Given the description of an element on the screen output the (x, y) to click on. 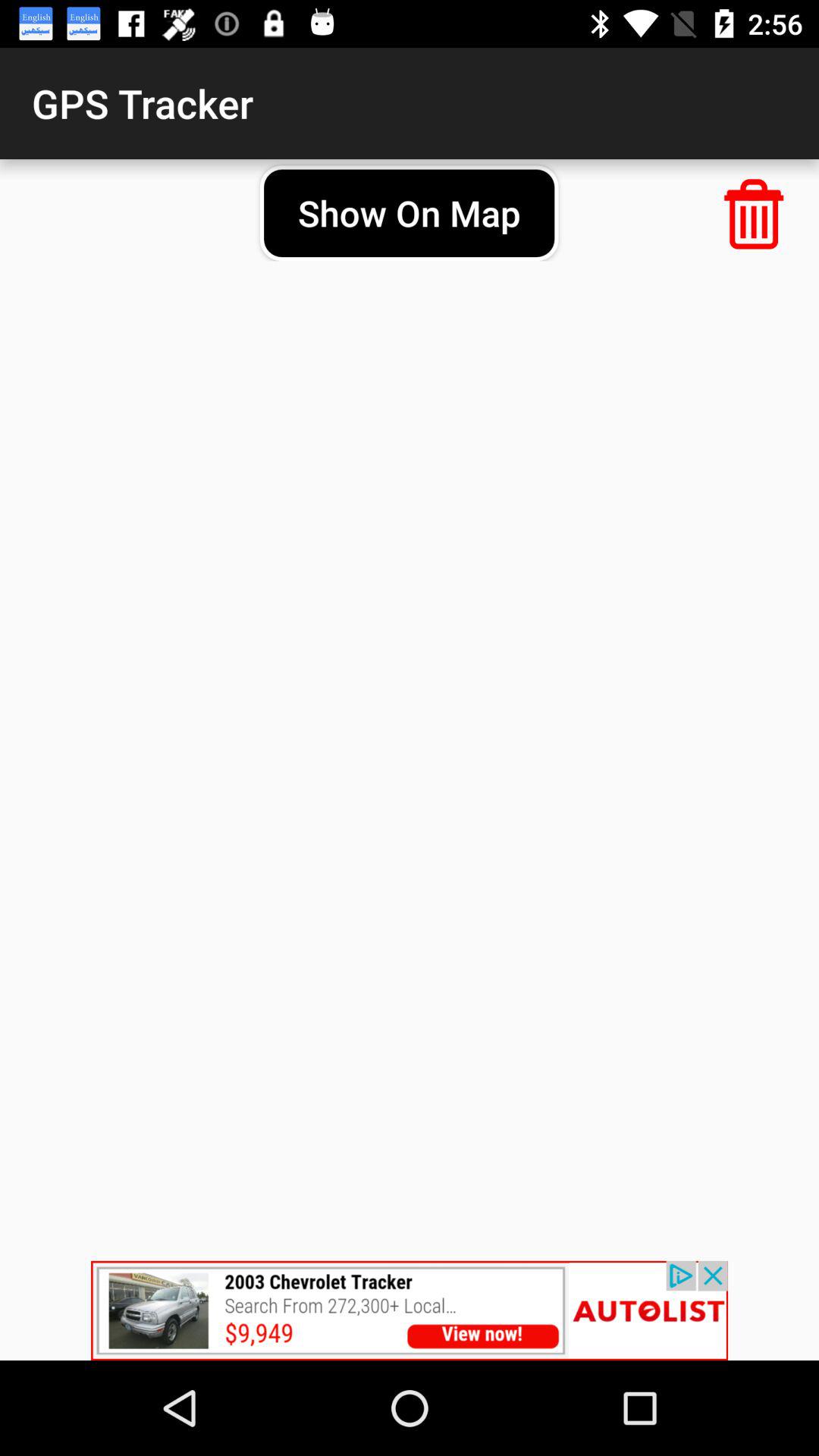
advertisement (409, 1310)
